Given the description of an element on the screen output the (x, y) to click on. 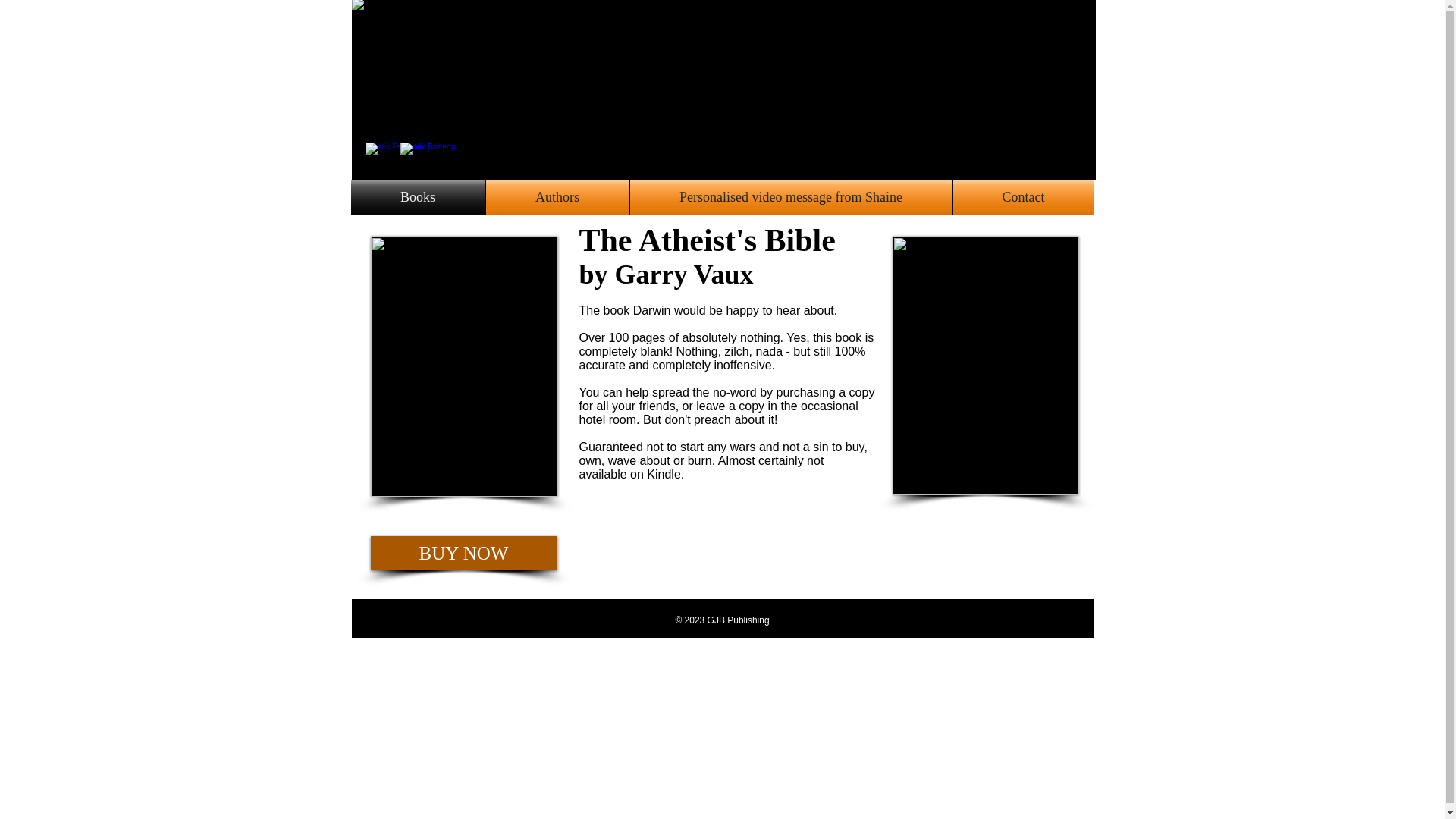
Authors (556, 197)
Books (417, 197)
Contact (1022, 197)
Personalised video message from Shaine (790, 197)
